Given the description of an element on the screen output the (x, y) to click on. 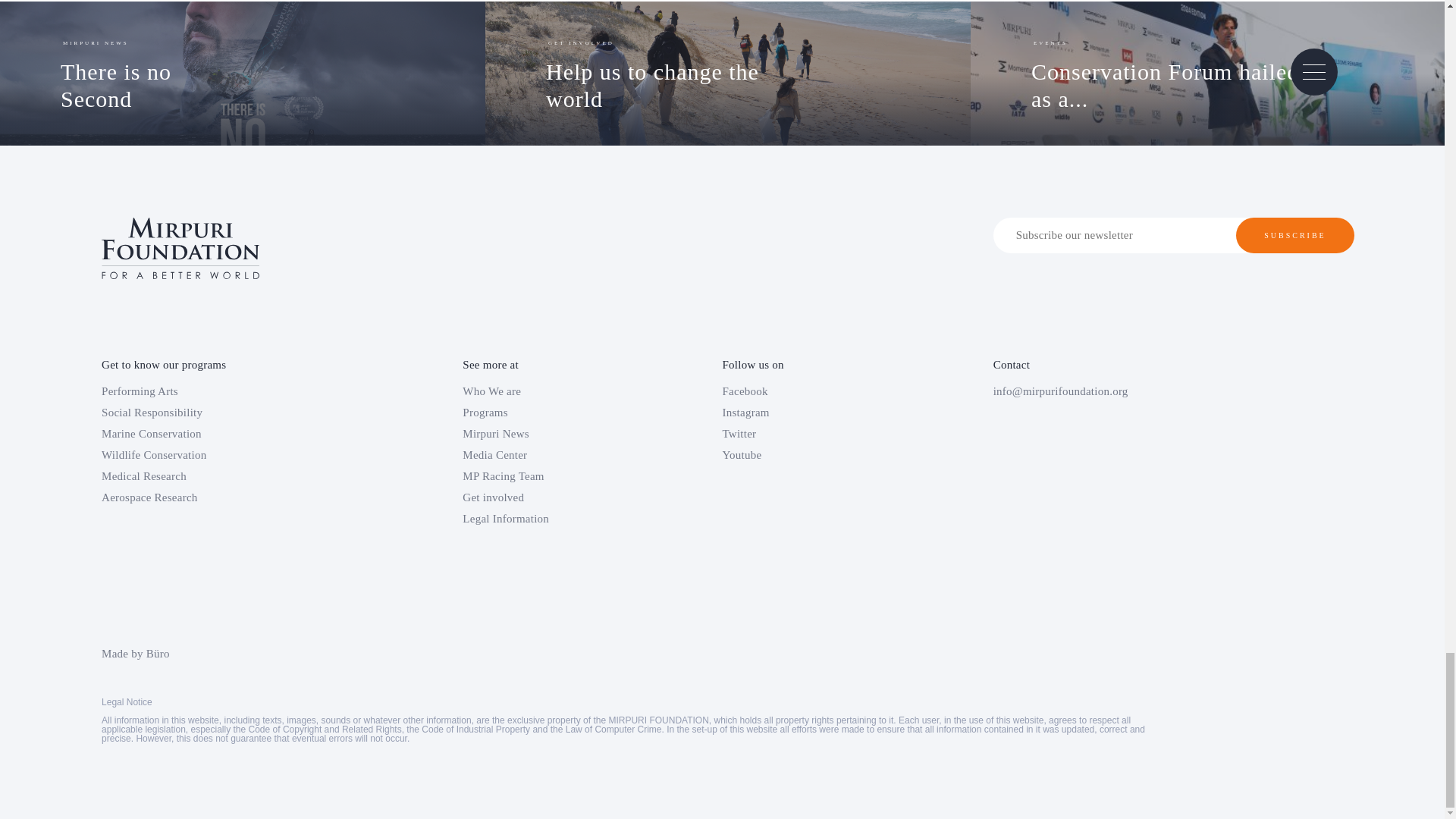
Wildlife Conservation (1196, 73)
Marine Conservation (225, 454)
Media Center (225, 433)
Programs (541, 454)
Mirpuri News (541, 412)
SUBSCRIBE (541, 433)
MP Racing Team (1295, 235)
Performing Arts (541, 476)
Social Responsibility (225, 391)
Who We are (684, 73)
Medical Research (225, 412)
Aerospace Research (541, 391)
